Given the description of an element on the screen output the (x, y) to click on. 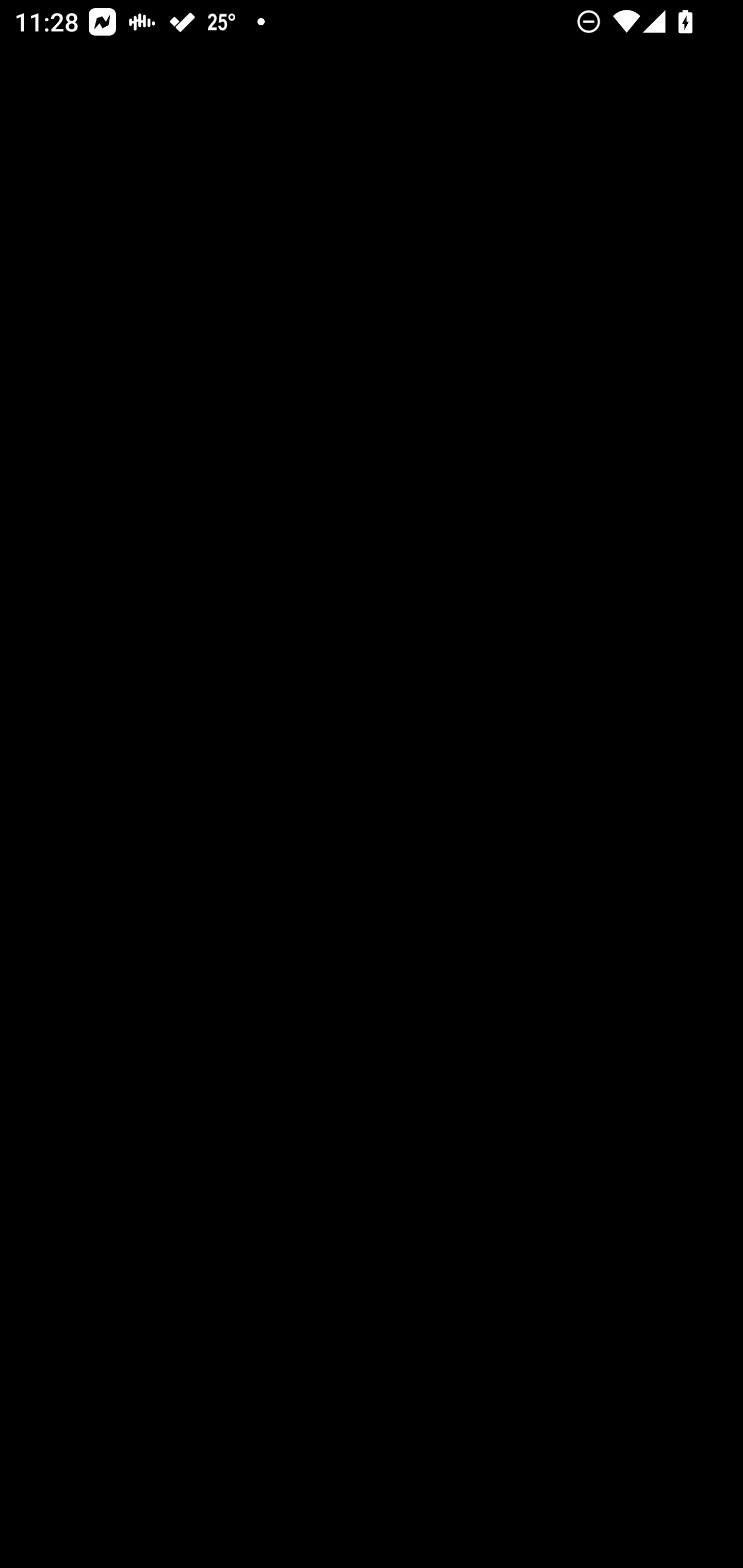
Communities, has notifications Communities (225, 1520)
